Given the description of an element on the screen output the (x, y) to click on. 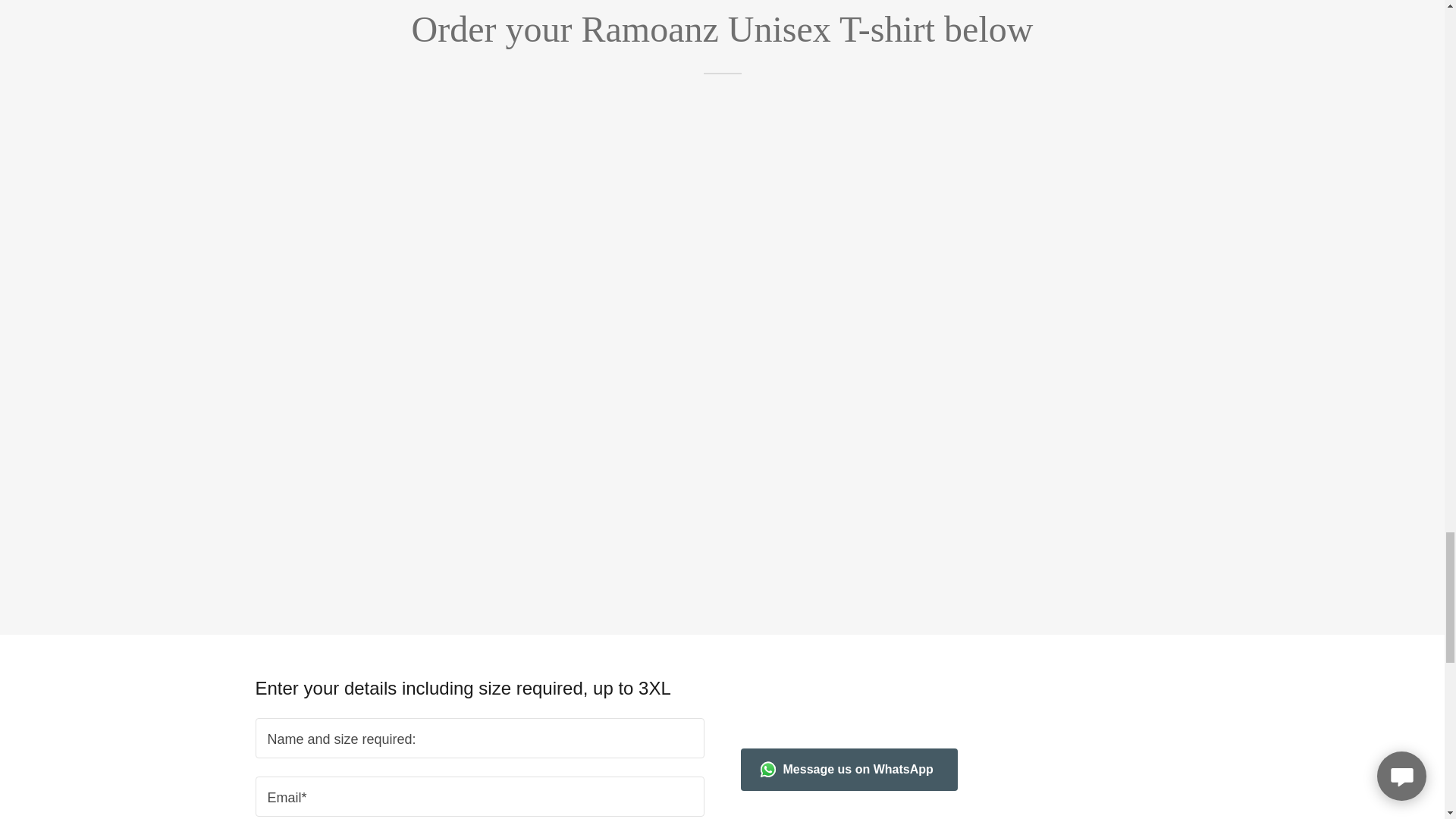
Message us on WhatsApp (847, 769)
